Given the description of an element on the screen output the (x, y) to click on. 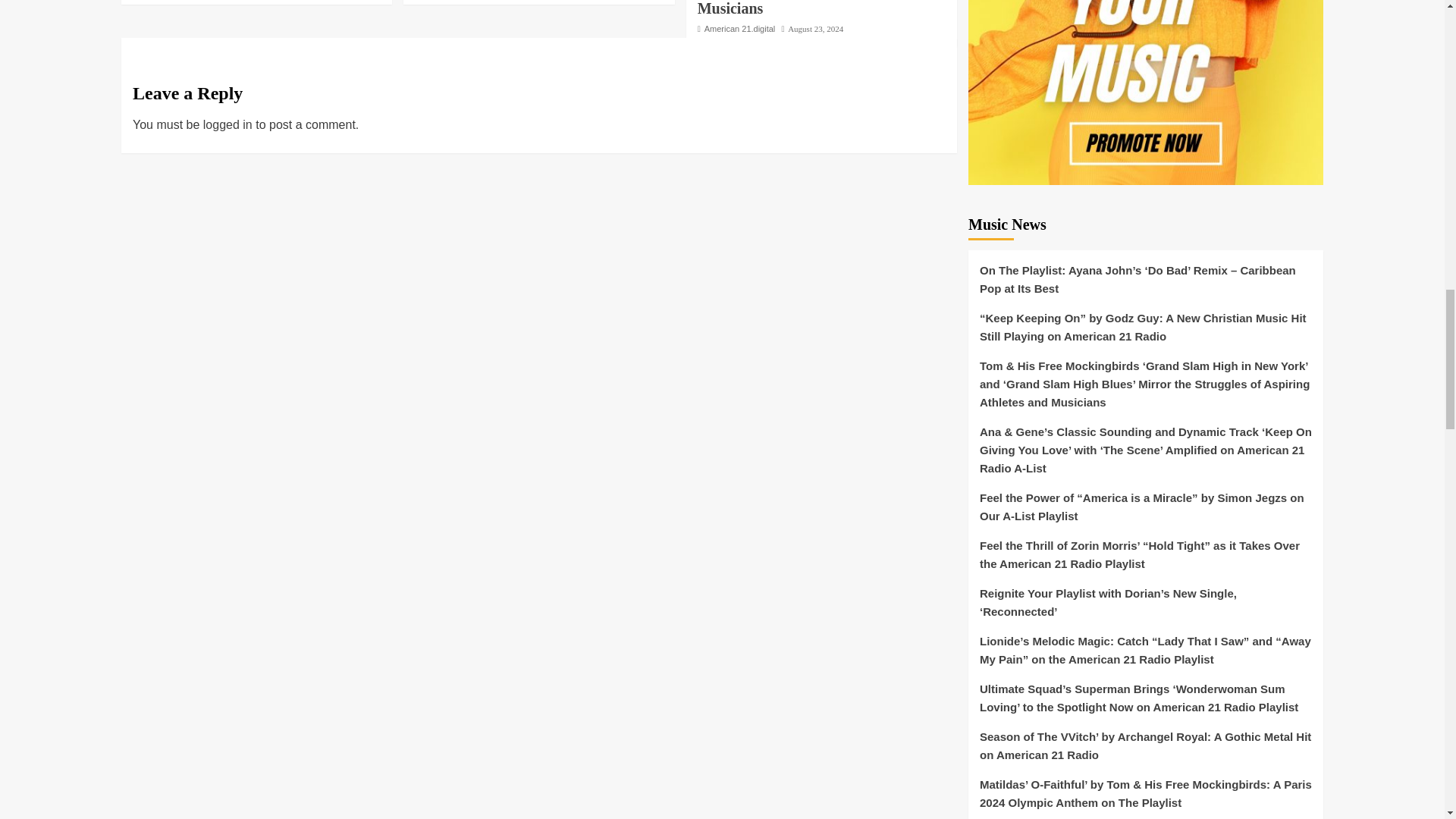
logged in (227, 124)
American 21.digital (740, 28)
August 23, 2024 (815, 28)
